Given the description of an element on the screen output the (x, y) to click on. 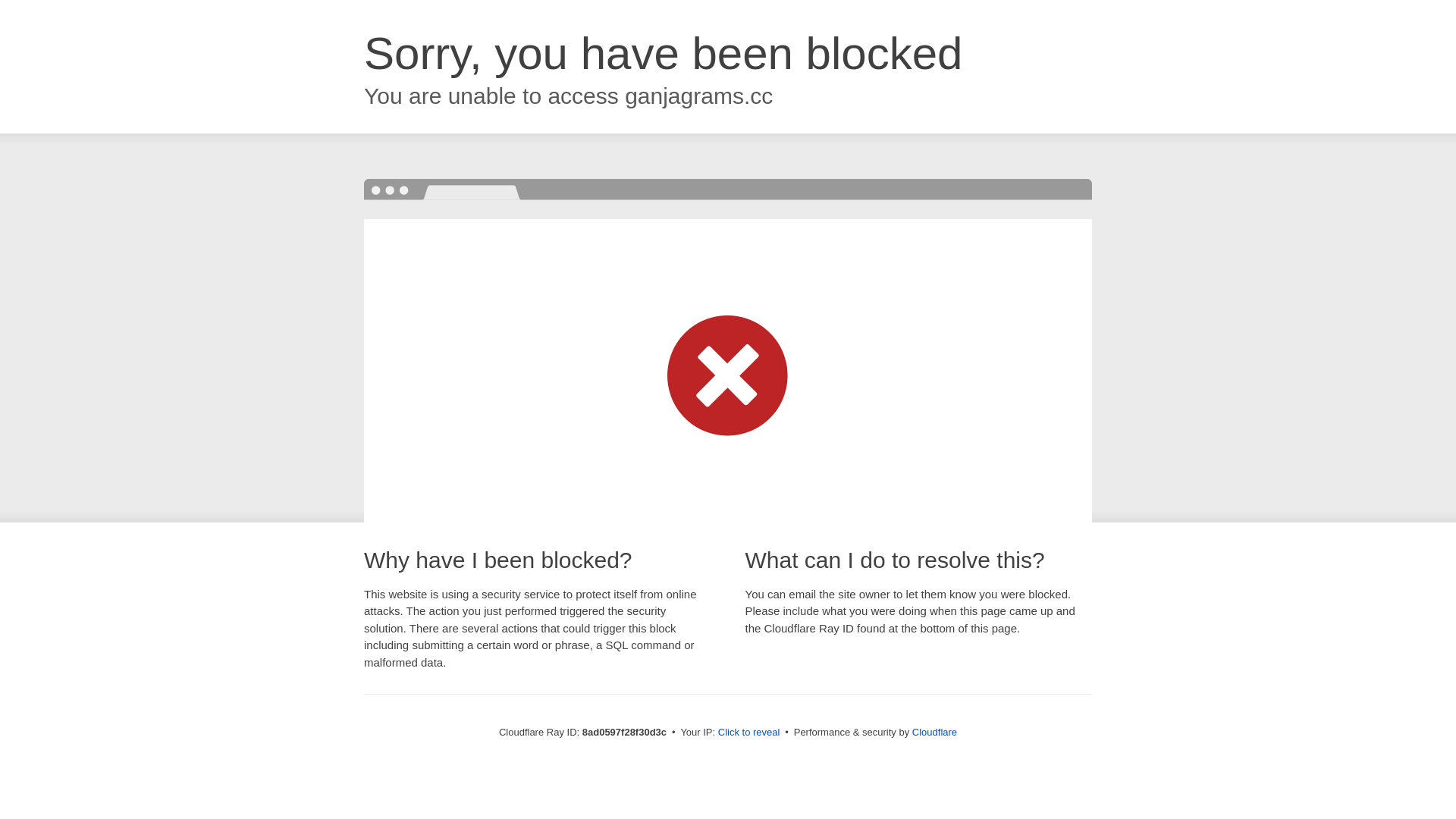
Cloudflare (934, 731)
Click to reveal (748, 732)
